Given the description of an element on the screen output the (x, y) to click on. 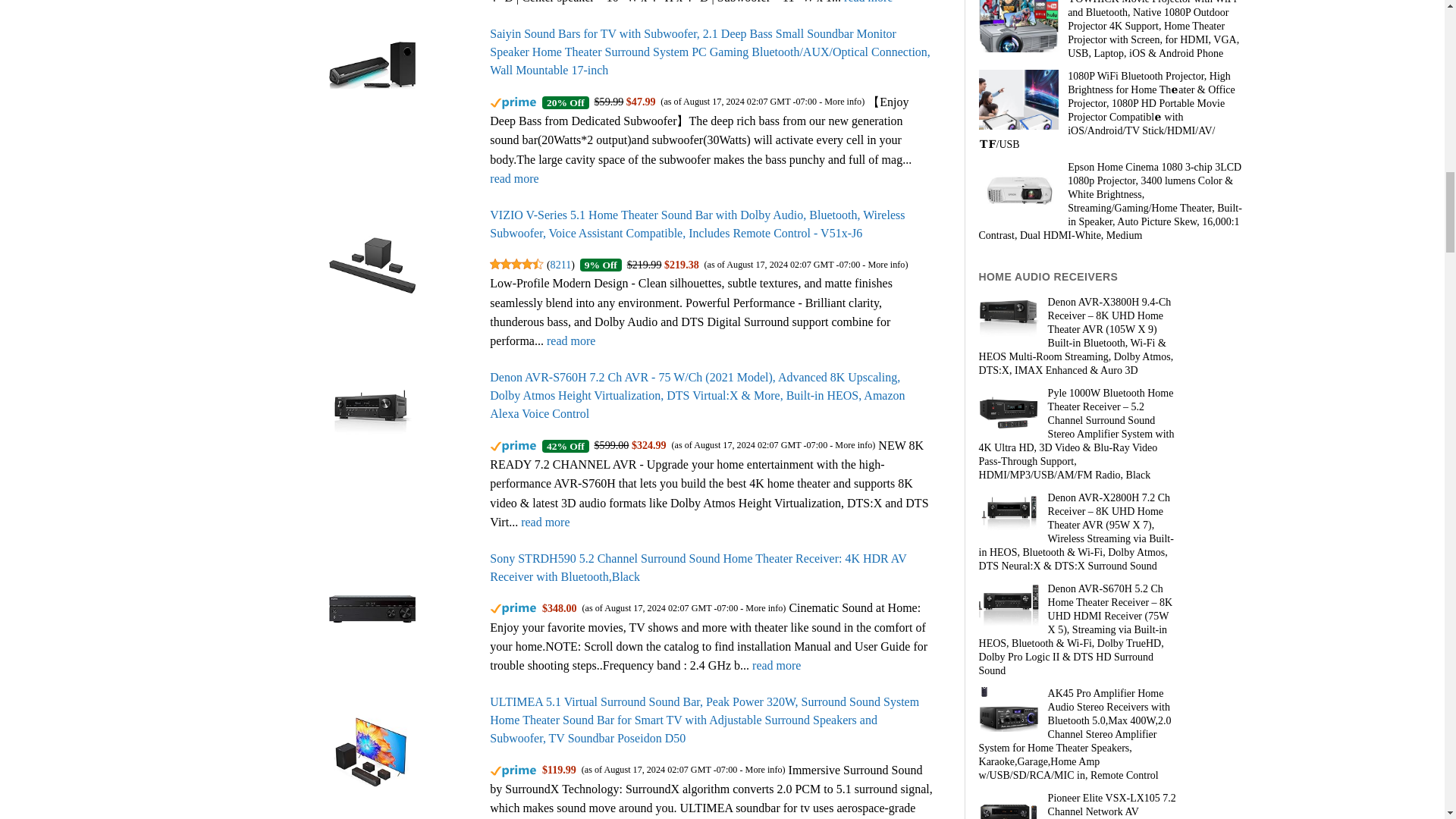
8211 (561, 264)
More info (885, 264)
More info (853, 444)
